Given the description of an element on the screen output the (x, y) to click on. 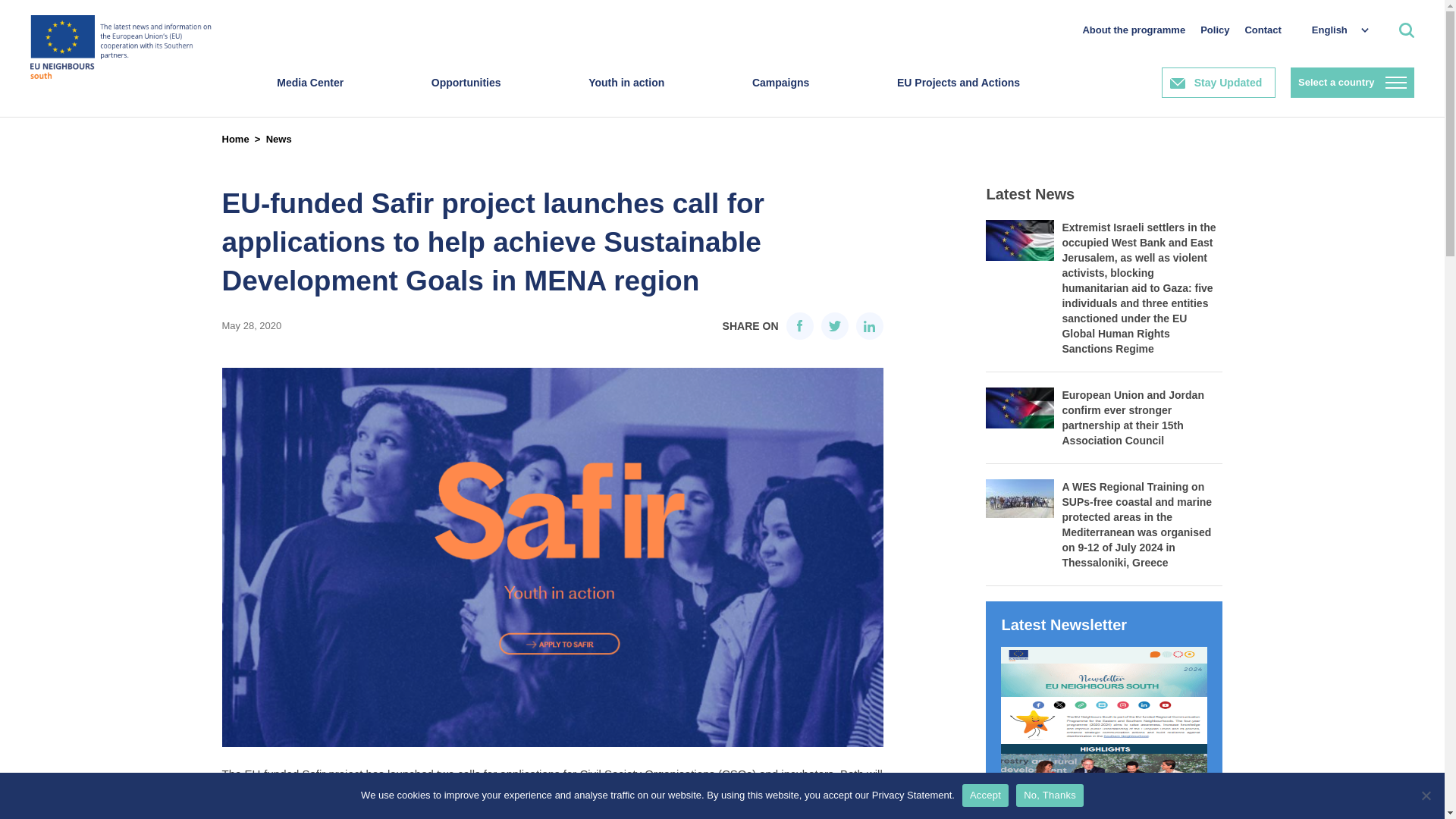
No, Thanks (1425, 795)
Policy (1213, 30)
Contact (1262, 30)
English (1332, 29)
Media Center (309, 97)
About the programme (1133, 30)
